Given the description of an element on the screen output the (x, y) to click on. 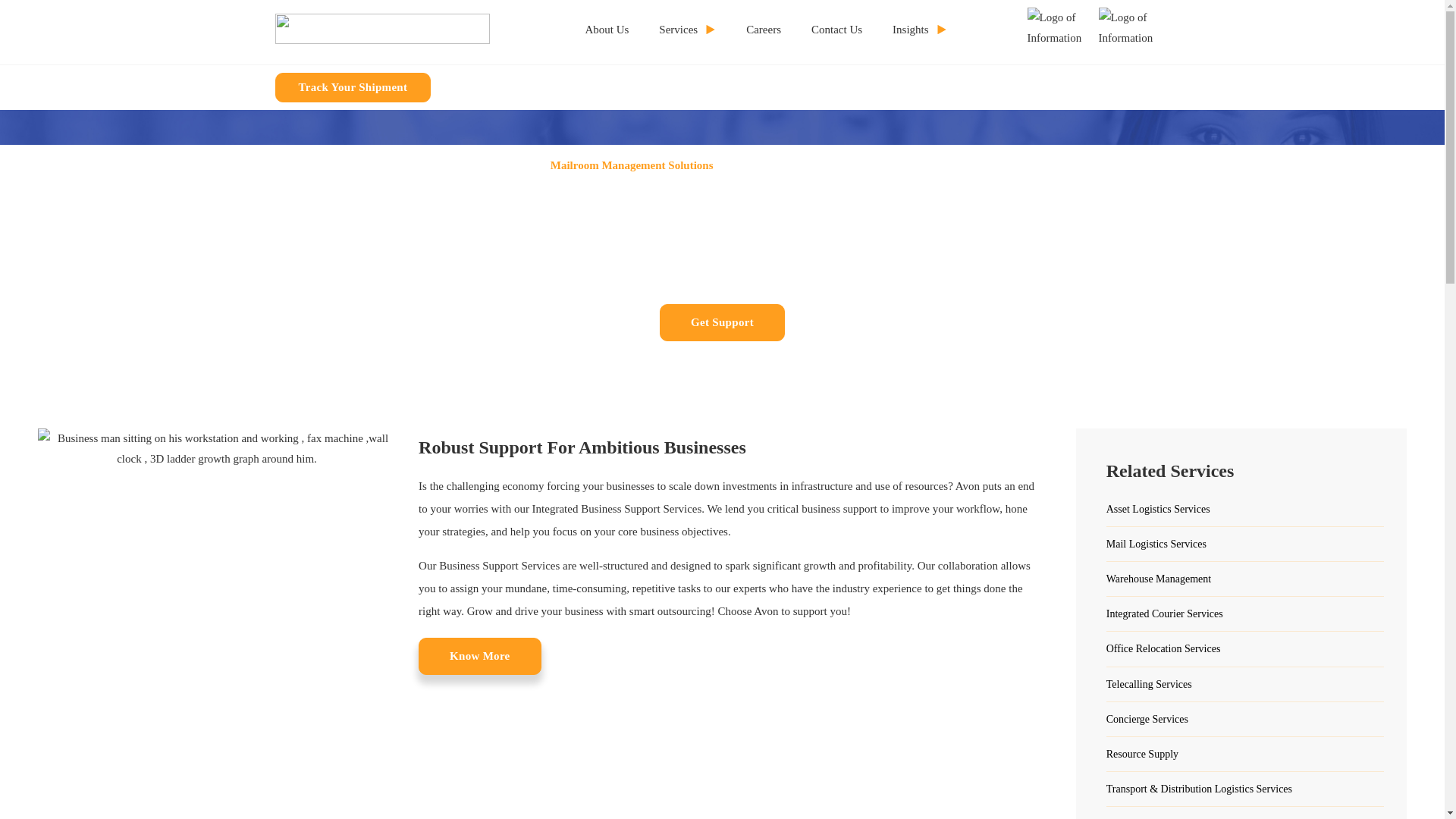
Careers (763, 30)
Services (686, 30)
Insights (920, 30)
Contact Us (836, 30)
About Us (606, 30)
